Given the description of an element on the screen output the (x, y) to click on. 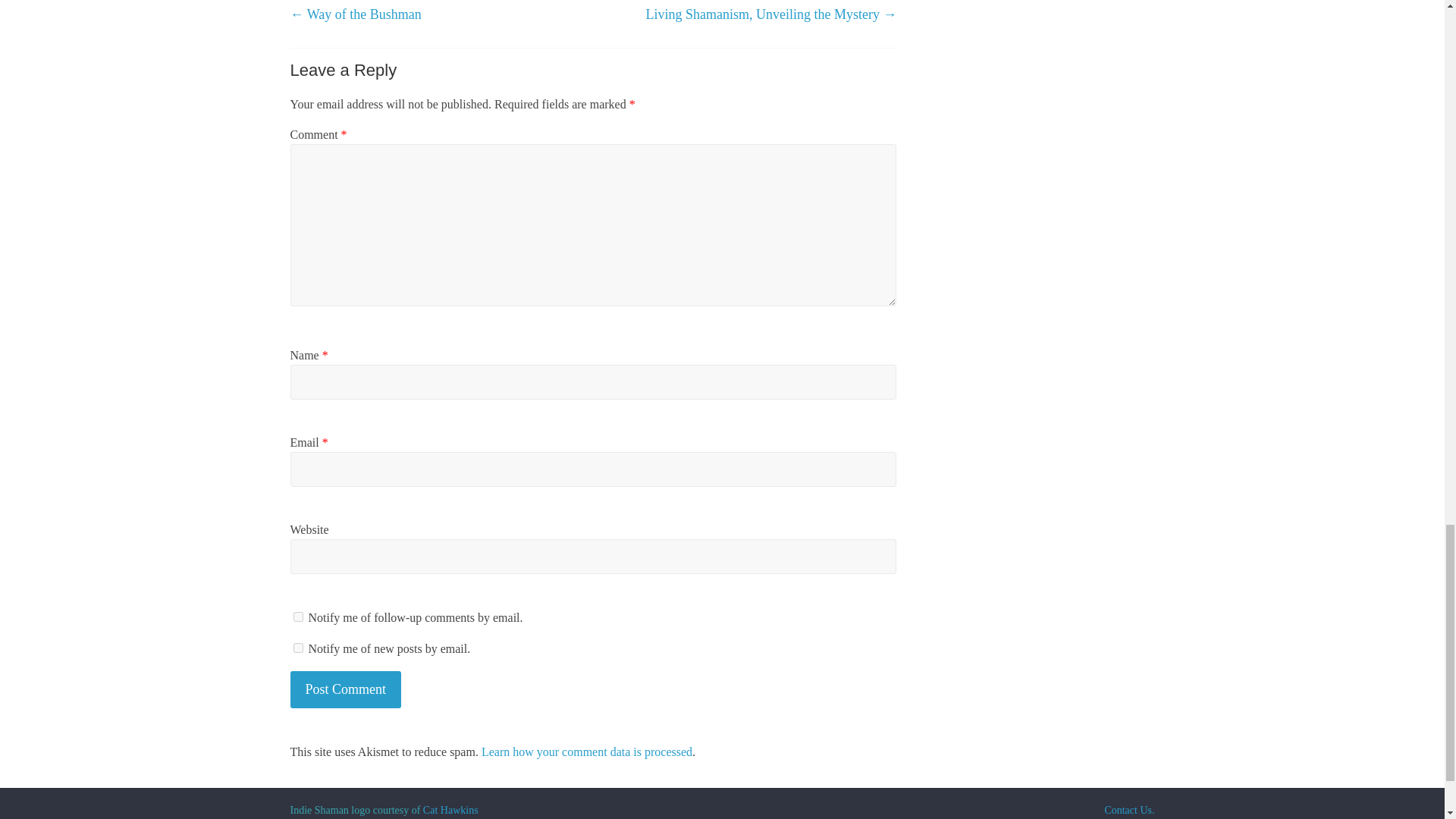
subscribe (297, 647)
subscribe (297, 616)
Post Comment (345, 689)
